Given the description of an element on the screen output the (x, y) to click on. 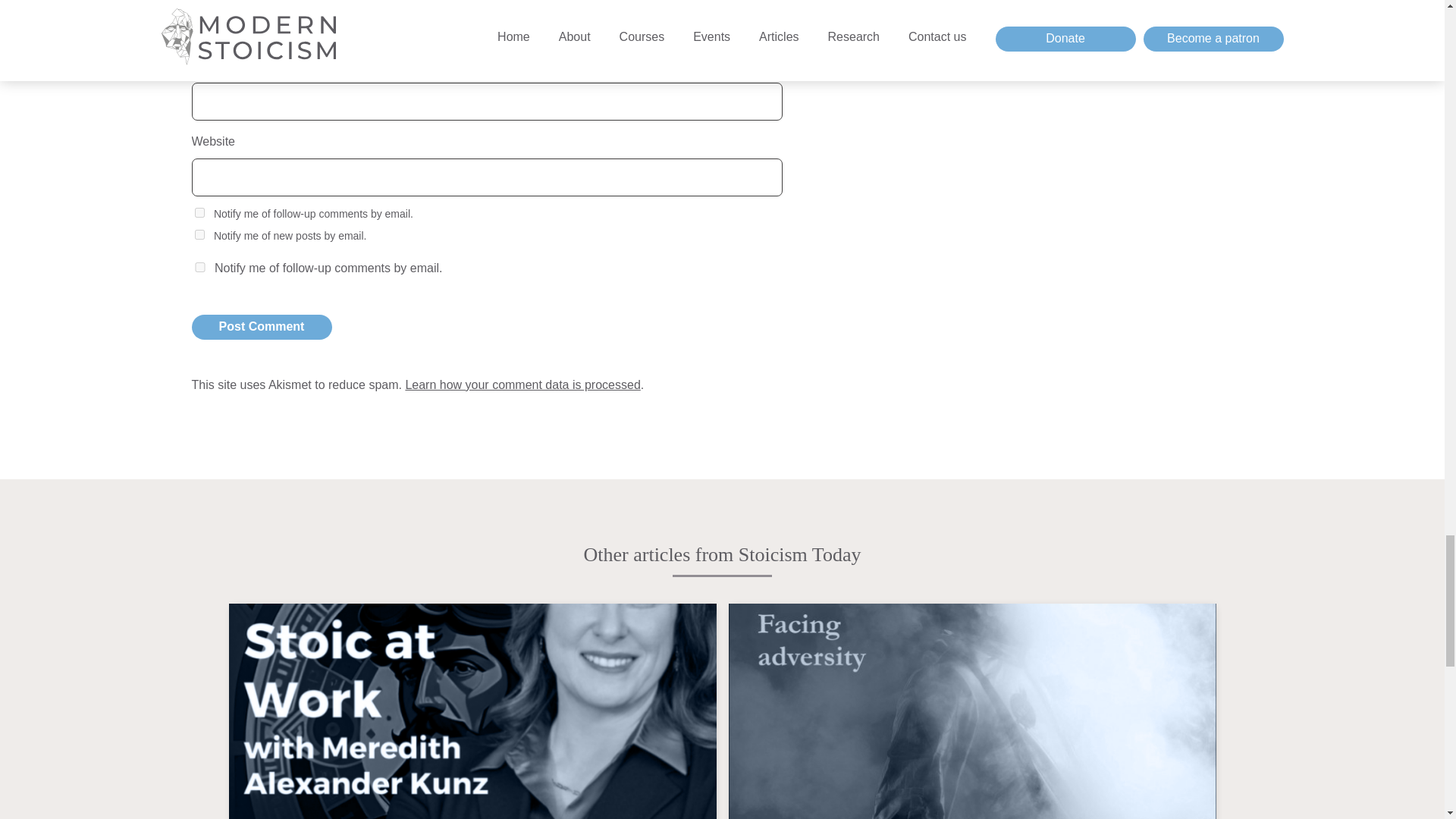
Post Comment (260, 326)
yes (199, 266)
subscribe (198, 234)
subscribe (198, 212)
